Given the description of an element on the screen output the (x, y) to click on. 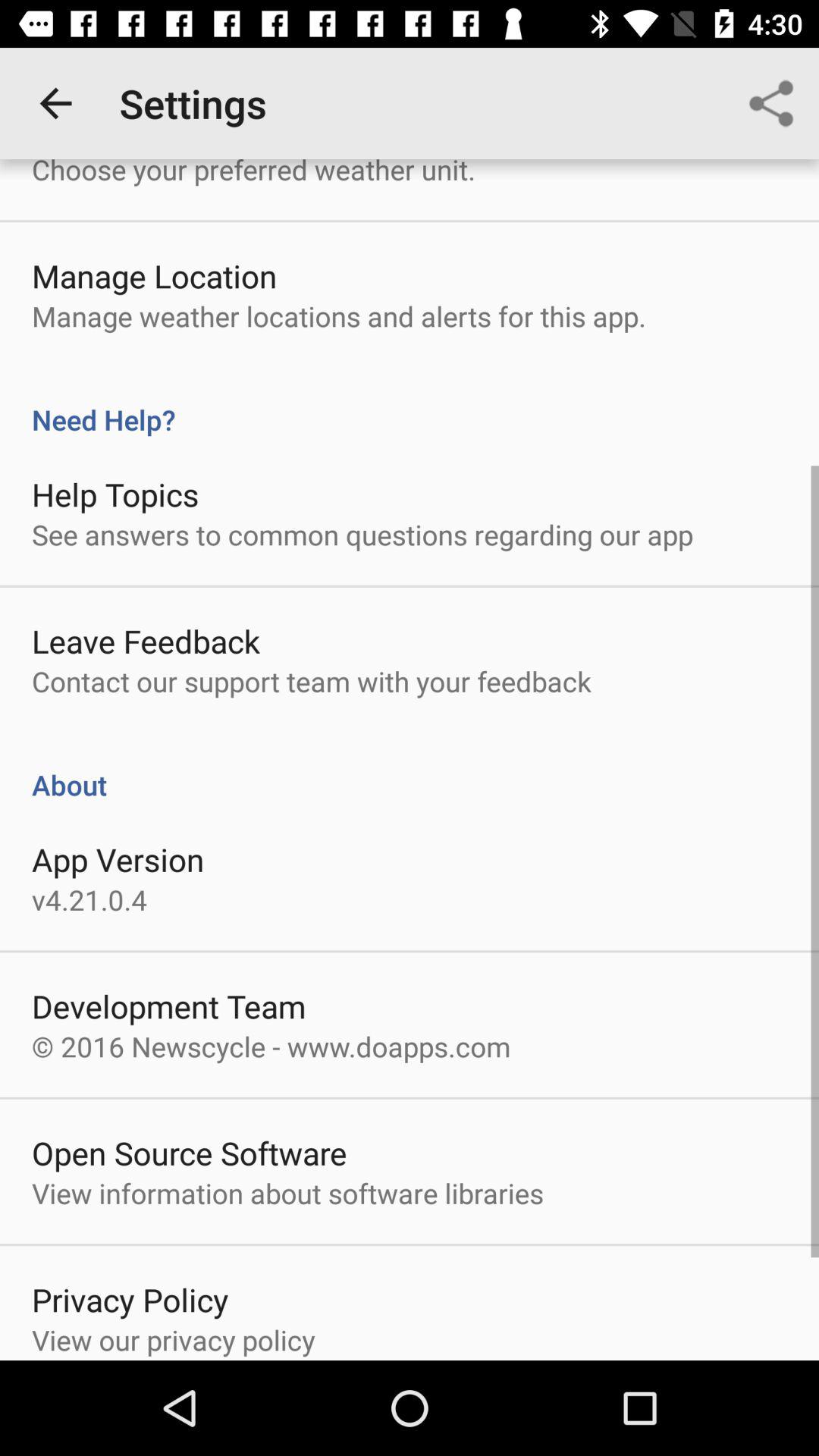
scroll until development team item (168, 1005)
